Given the description of an element on the screen output the (x, y) to click on. 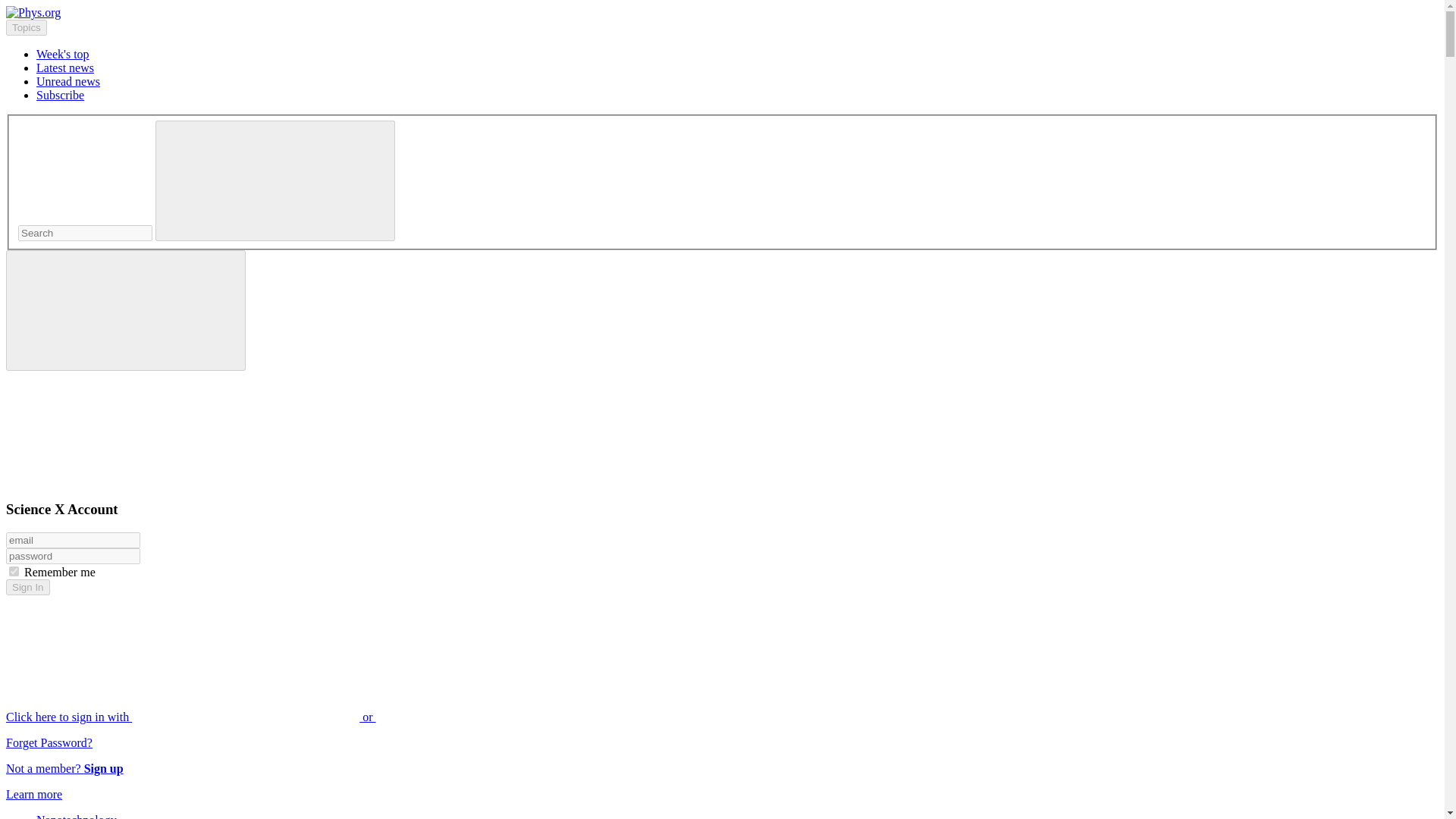
Learn more (33, 793)
Latest news (65, 67)
Week's top (62, 53)
on (13, 571)
Unread news (68, 81)
Sign In (27, 587)
Subscribe (60, 94)
Click here to sign in with or (304, 716)
Nanotechnology (76, 816)
Forget Password? (49, 742)
